Given the description of an element on the screen output the (x, y) to click on. 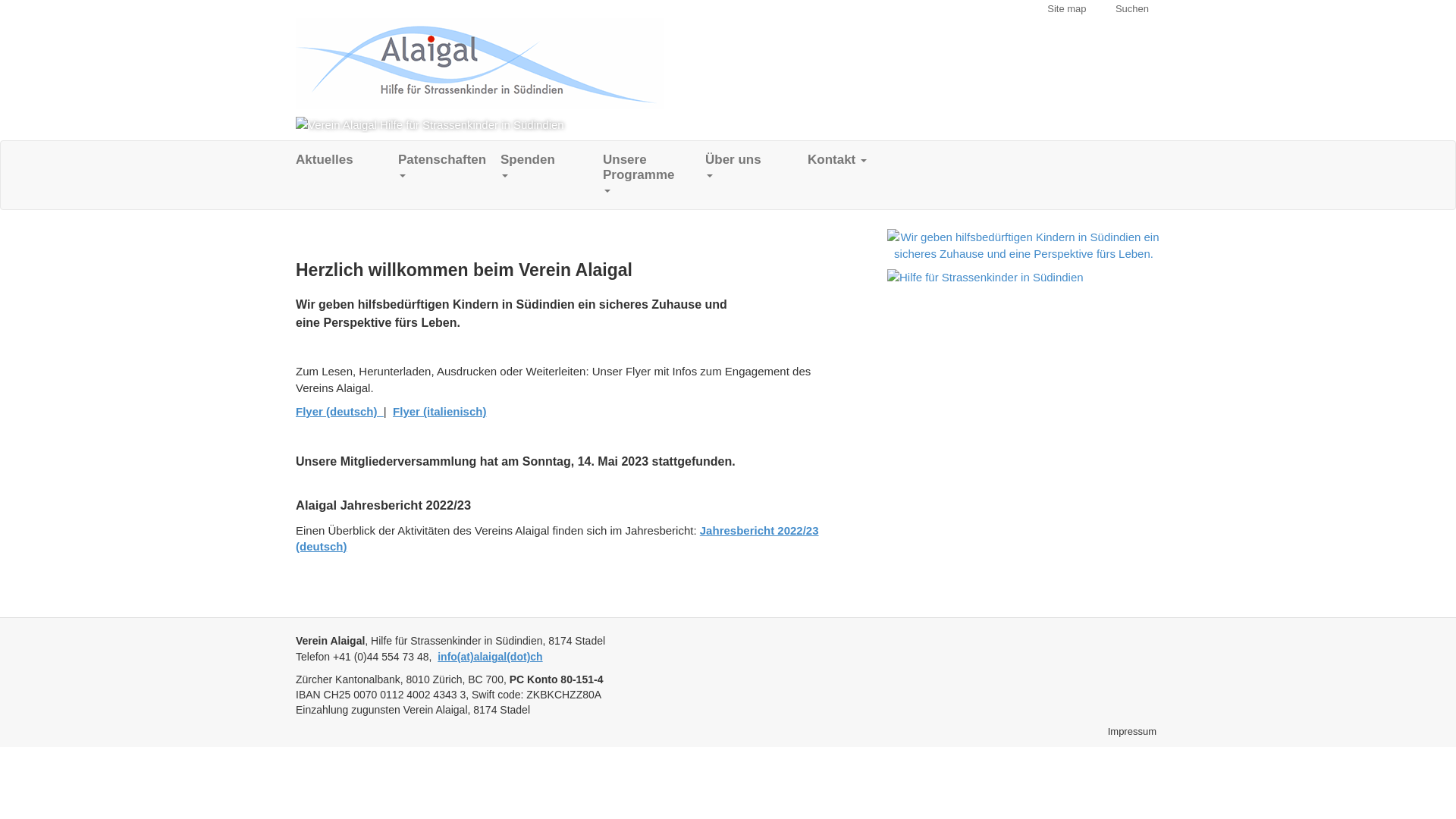
info(at)alaigal(dot)ch Element type: text (489, 656)
Flyer (italienisch) Element type: text (439, 410)
Site map Element type: text (1066, 8)
Impressum Element type: text (1131, 731)
Patenschaften Element type: text (449, 167)
Jahresbericht 2022/23 (deutsch) Element type: text (557, 538)
Kontakt Element type: text (858, 159)
Flyer (deutsch)  Element type: text (339, 410)
Unsere Programme Element type: text (653, 175)
Spenden Element type: text (551, 167)
Suchen Element type: text (1131, 8)
Aktuelles Element type: text (346, 159)
